Given the description of an element on the screen output the (x, y) to click on. 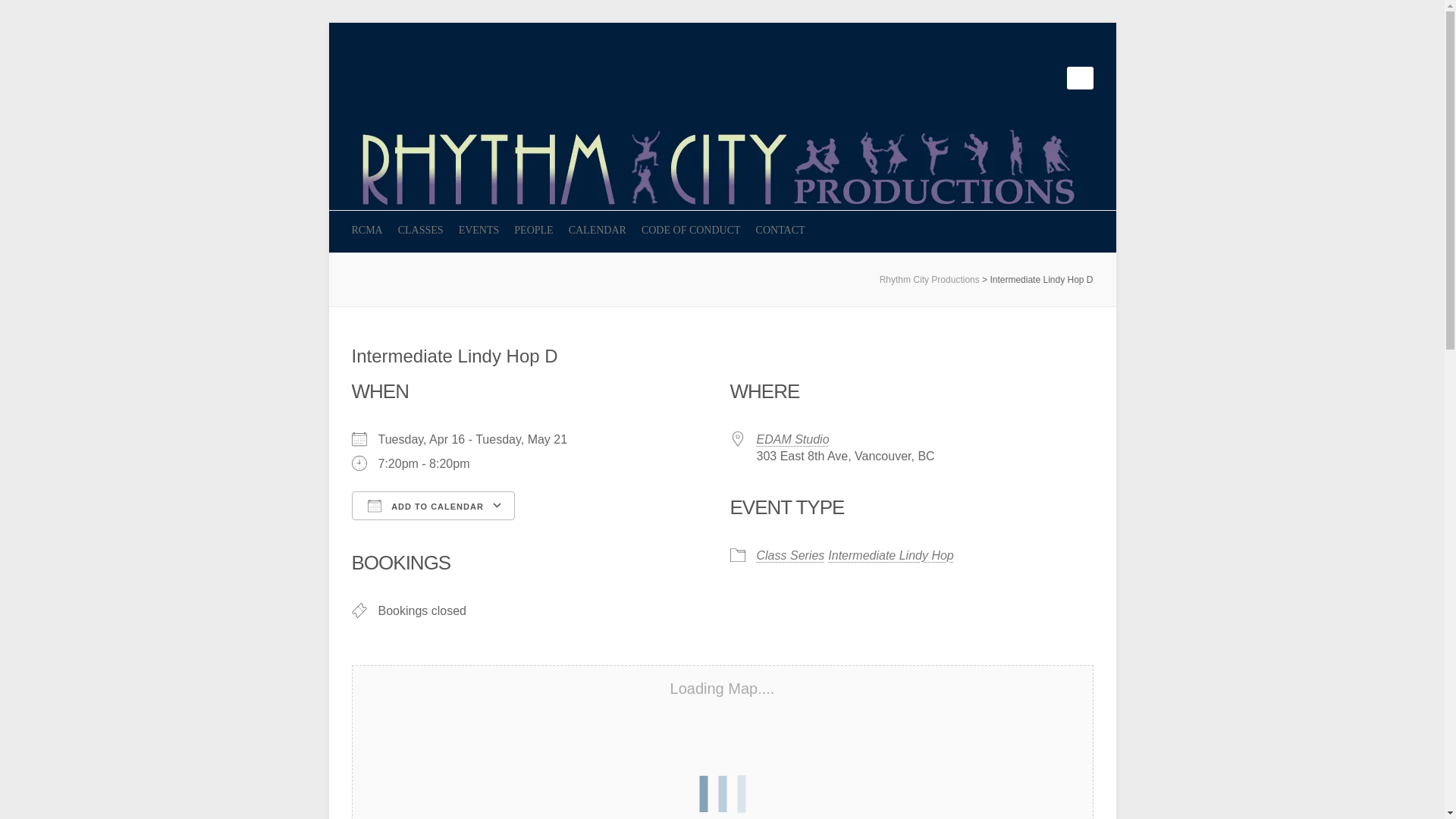
Intermediate Lindy Hop (890, 554)
Intermediate Lindy Hop D (454, 355)
EVENTS (478, 231)
Download ICS (425, 532)
CALENDAR (597, 231)
Go to Rhythm City Productions. (929, 279)
CLASSES (420, 231)
Rhythm City Productions (722, 134)
CODE OF CONDUCT (691, 231)
Rhythm City Productions on Youtube (1031, 77)
PEOPLE (533, 231)
Rhythm City Productions Youtube (1031, 77)
EDAM Studio (793, 439)
Rhythm City Productions Twitter (1008, 77)
ADD TO CALENDAR (433, 505)
